Given the description of an element on the screen output the (x, y) to click on. 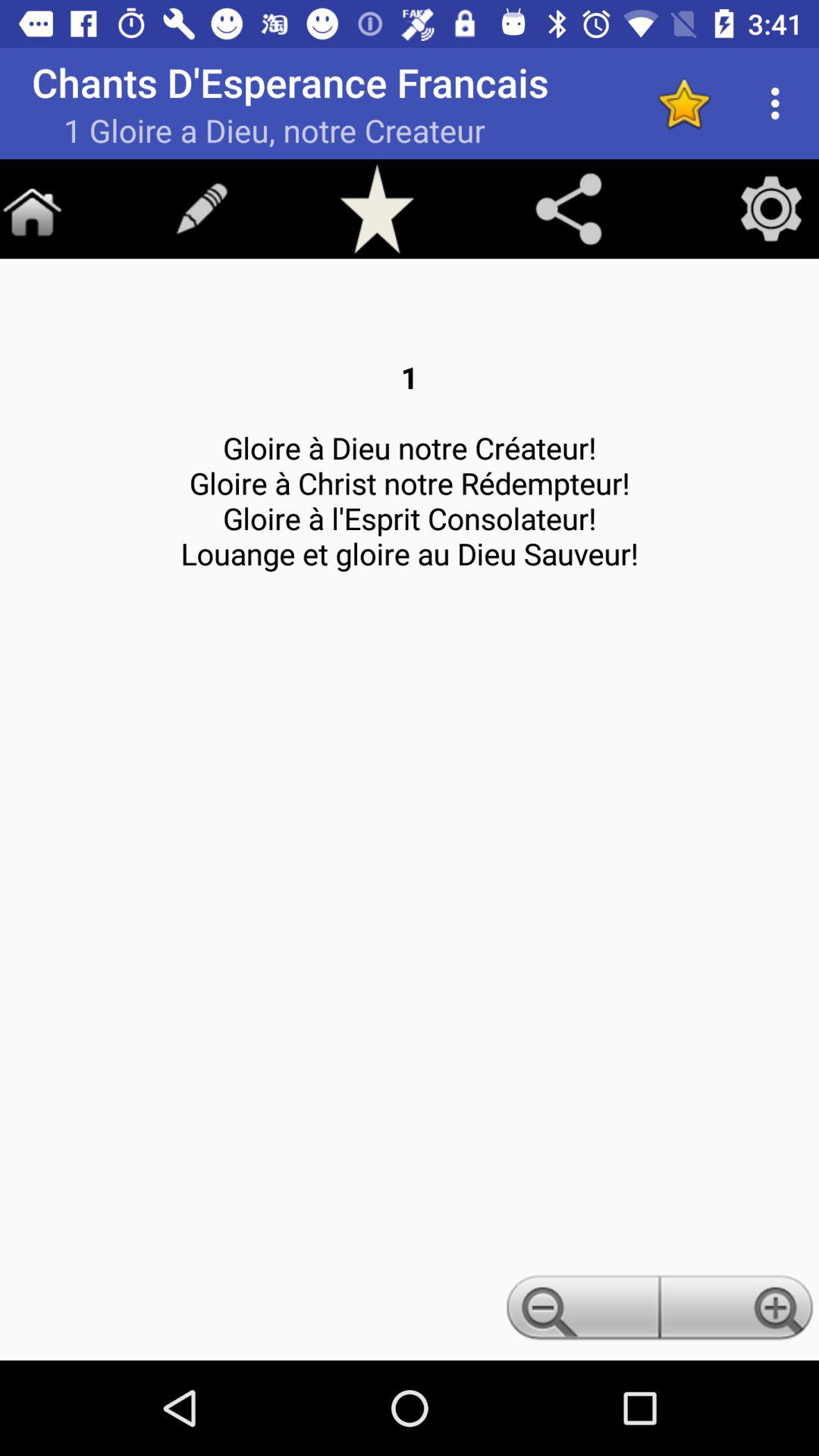
go home (31, 208)
